Given the description of an element on the screen output the (x, y) to click on. 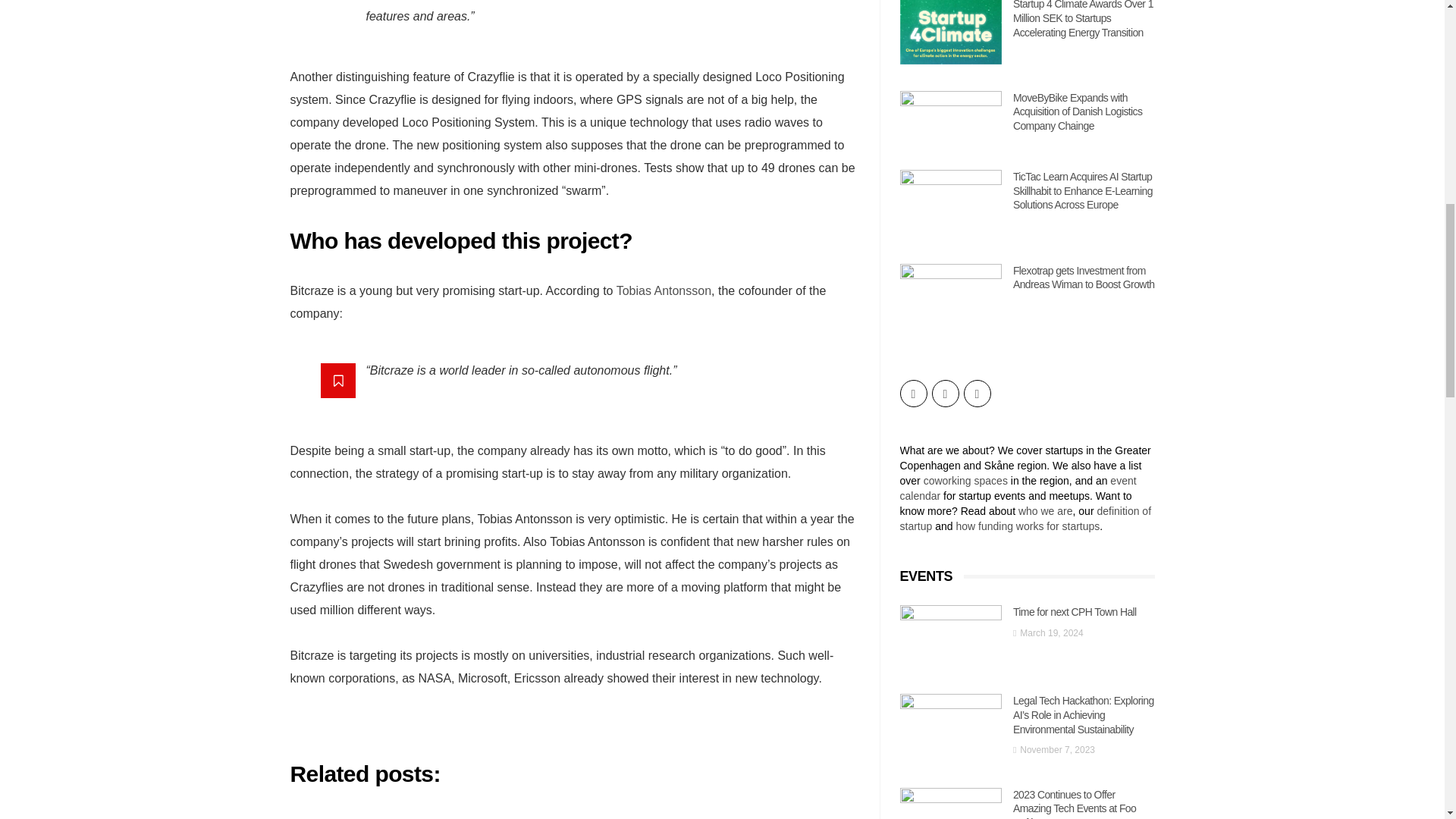
Tobias Antonsson (663, 290)
